Given the description of an element on the screen output the (x, y) to click on. 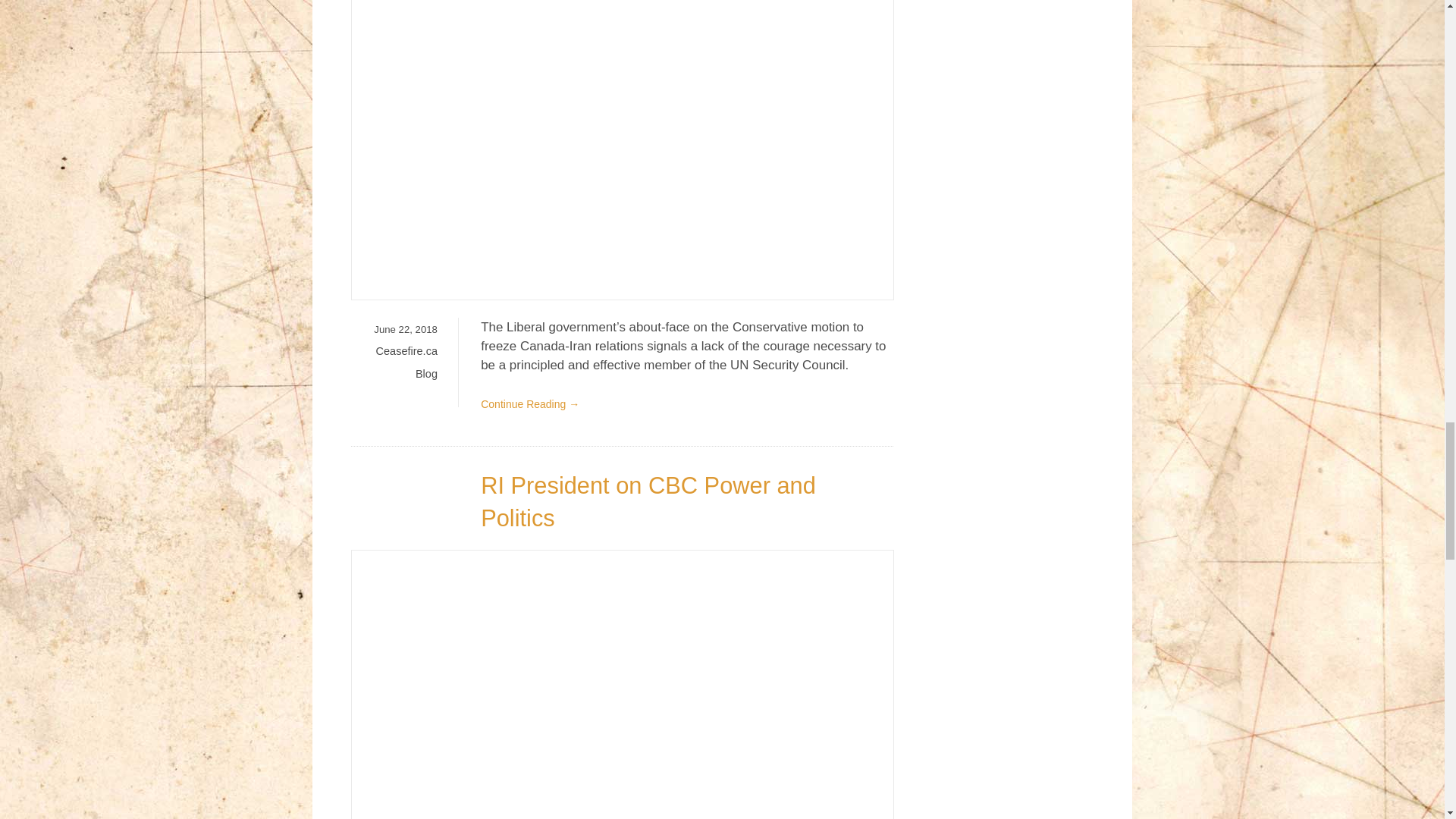
Ceasefire.ca (406, 350)
RI President on CBC Power and Politics (647, 501)
Blog (426, 373)
